Given the description of an element on the screen output the (x, y) to click on. 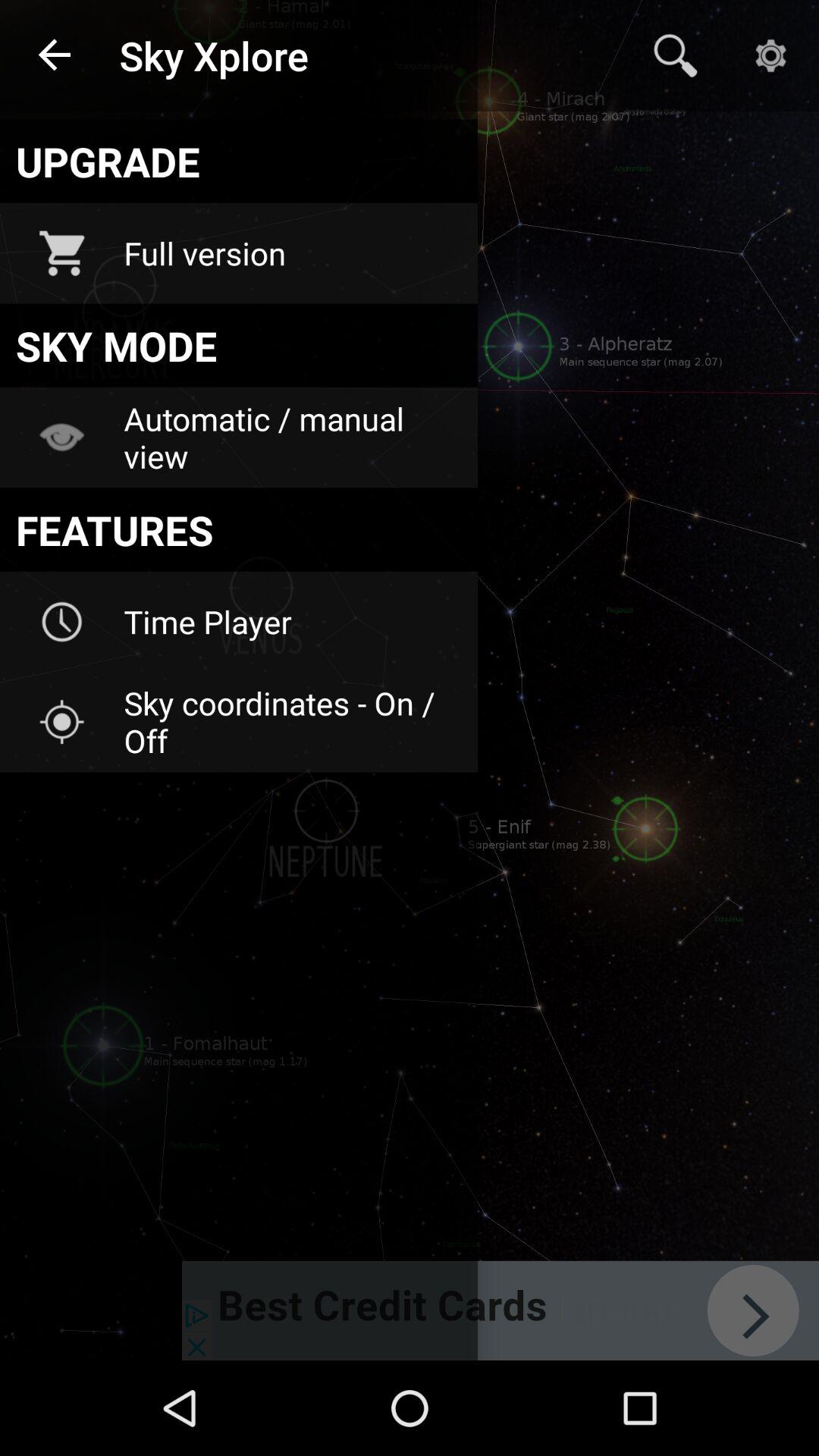
takes user to advertising regarding credit cards (500, 1310)
